Given the description of an element on the screen output the (x, y) to click on. 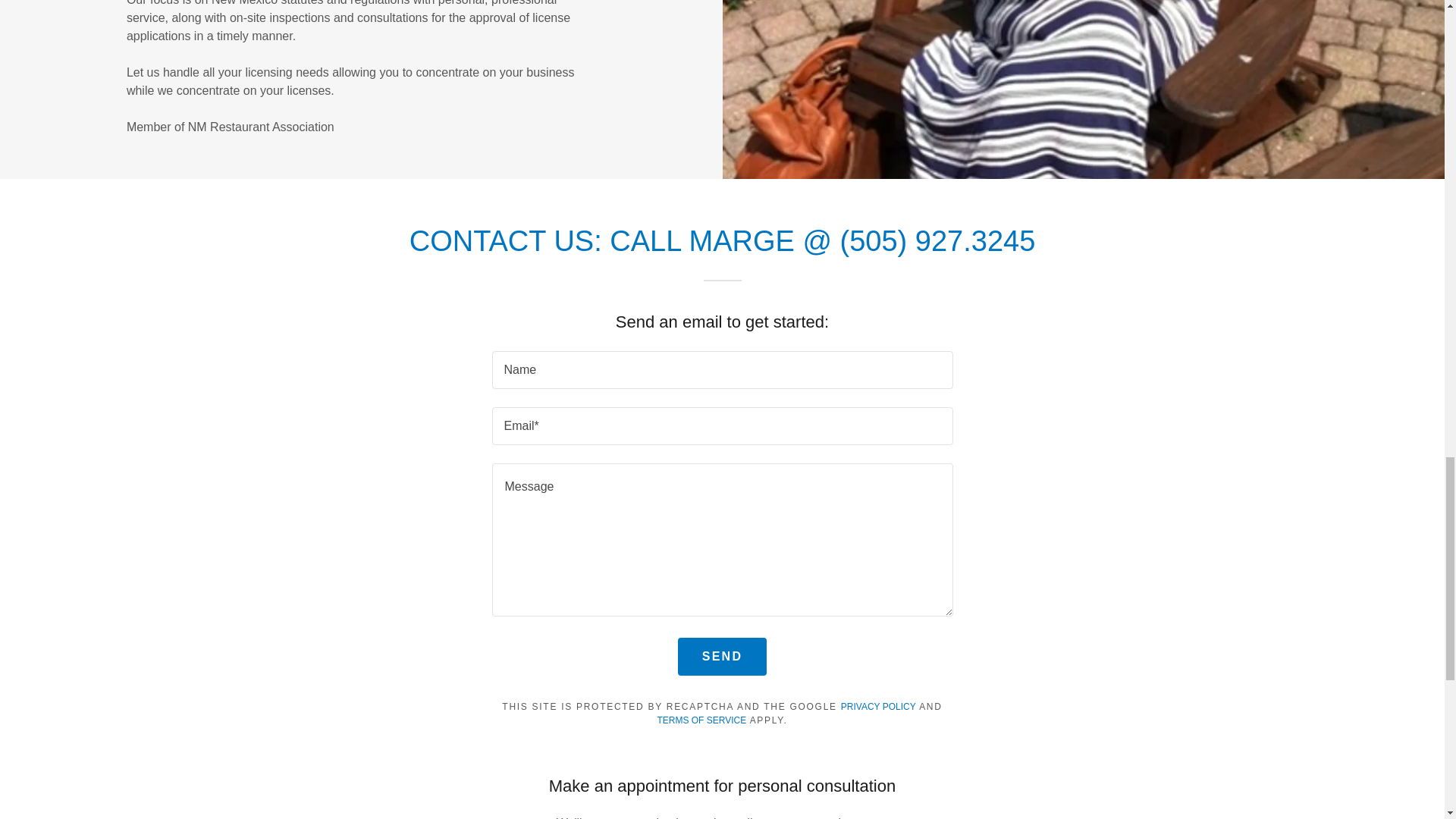
SEND (722, 656)
TERMS OF SERVICE (700, 719)
PRIVACY POLICY (878, 706)
